Given the description of an element on the screen output the (x, y) to click on. 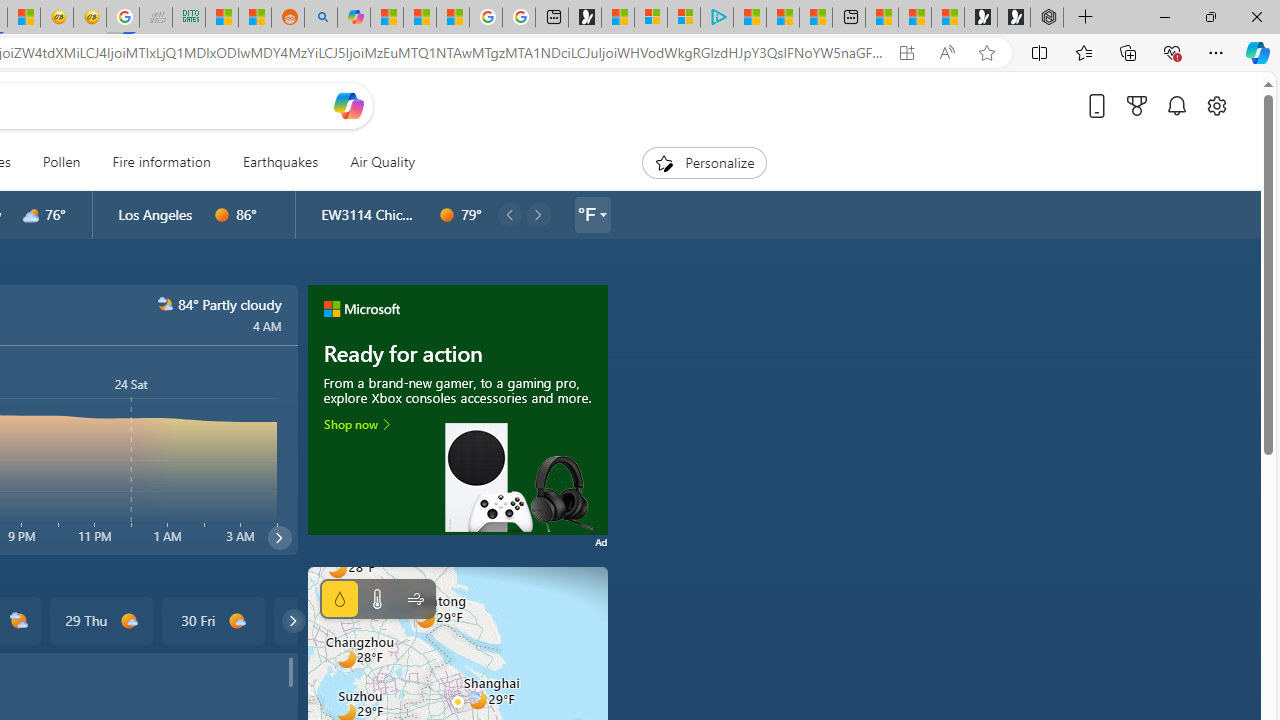
Temperature (376, 599)
locationBar/triangle (602, 214)
Air Quality (375, 162)
30 Fri d1000 (213, 620)
Pollen (61, 162)
